Given the description of an element on the screen output the (x, y) to click on. 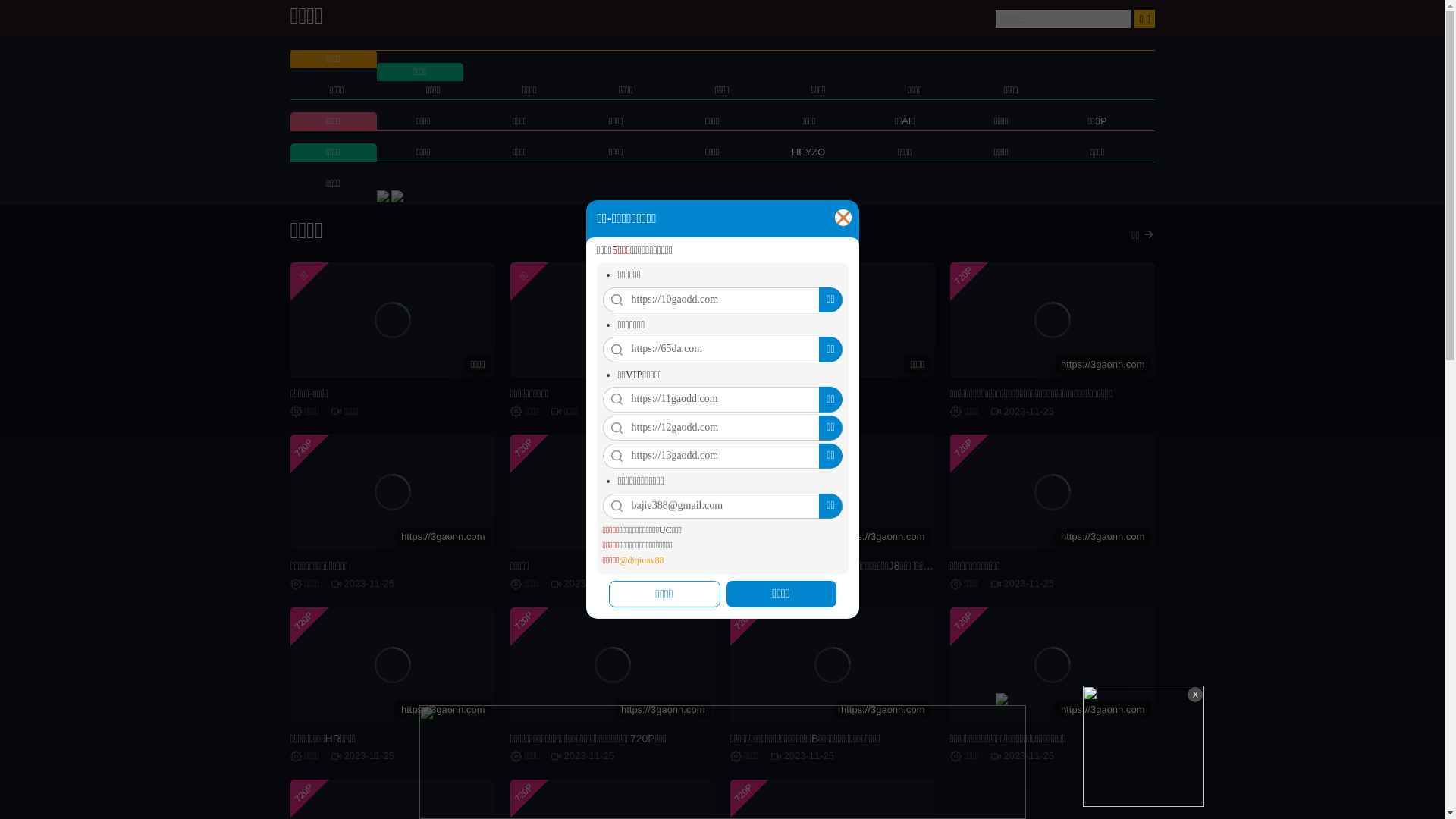
720P
https://3gaonn.com Element type: text (391, 664)
720P
https://3gaonn.com Element type: text (391, 491)
720P
https://3gaonn.com Element type: text (1051, 664)
720P
https://3gaonn.com Element type: text (1051, 319)
720P
https://3gaonn.com Element type: text (831, 664)
720P
https://3gaonn.com Element type: text (611, 664)
720P
https://3gaonn.com Element type: text (1051, 491)
@diqiuav88 Element type: text (640, 560)
720P
https://3gaonn.com Element type: text (611, 491)
HEYZO Element type: text (808, 151)
720P
https://3gaonn.com Element type: text (831, 491)
